Given the description of an element on the screen output the (x, y) to click on. 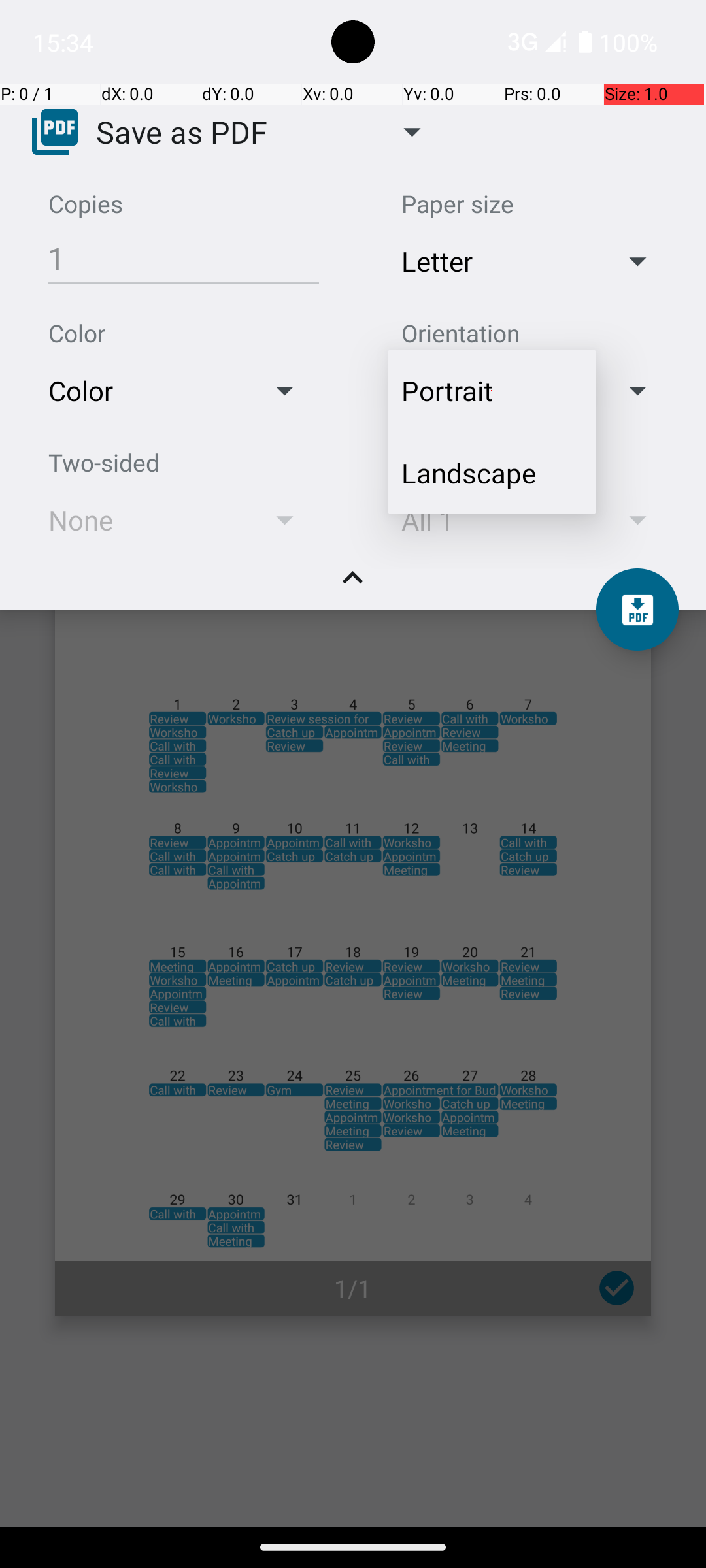
Portrait Element type: android.widget.CheckedTextView (491, 390)
Landscape Element type: android.widget.CheckedTextView (491, 472)
